Given the description of an element on the screen output the (x, y) to click on. 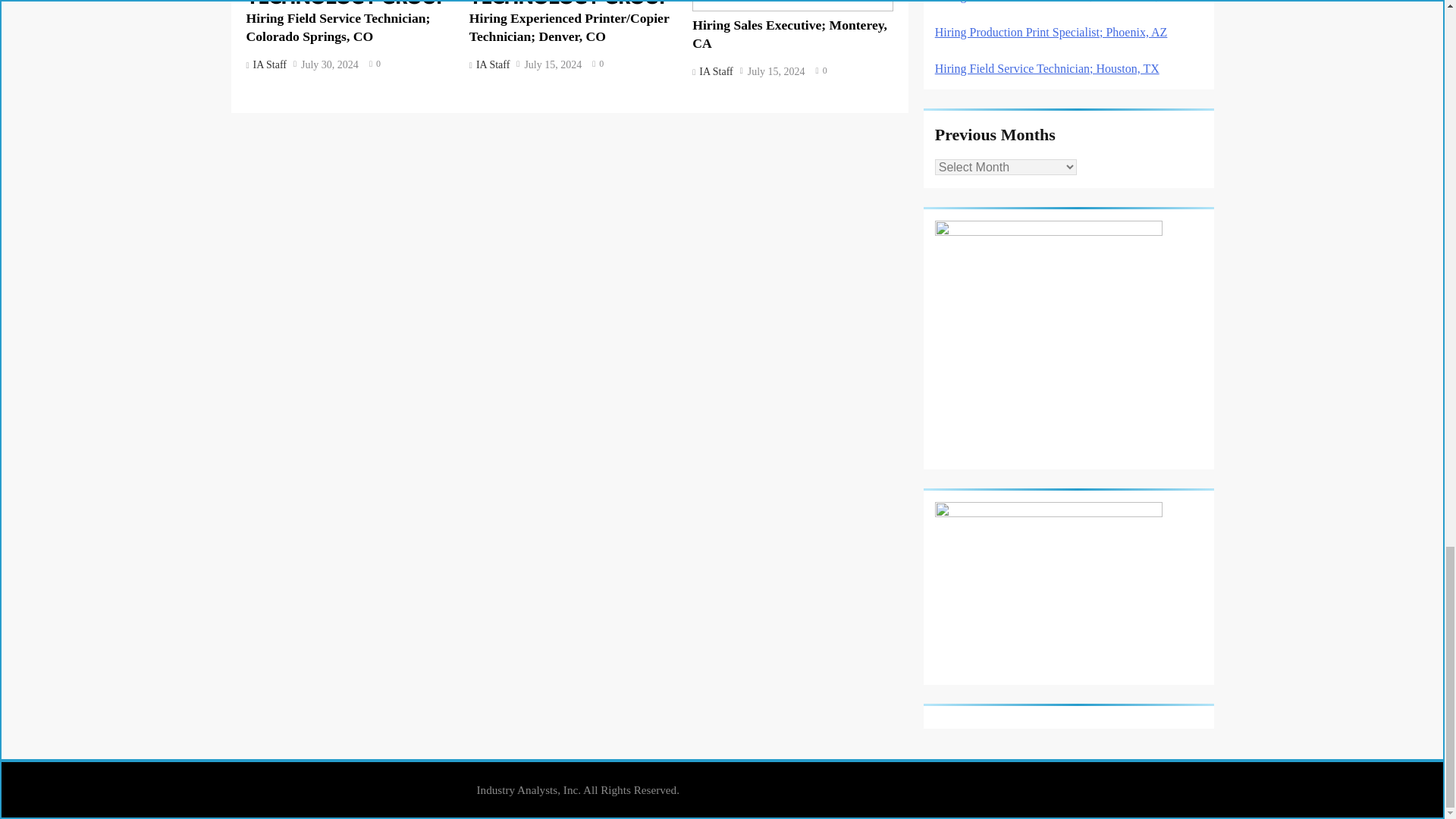
Hiring Field Service Technician; Houston, TX (1046, 68)
Hiring Production Print Specialist; Phoenix, AZ (1050, 31)
